Given the description of an element on the screen output the (x, y) to click on. 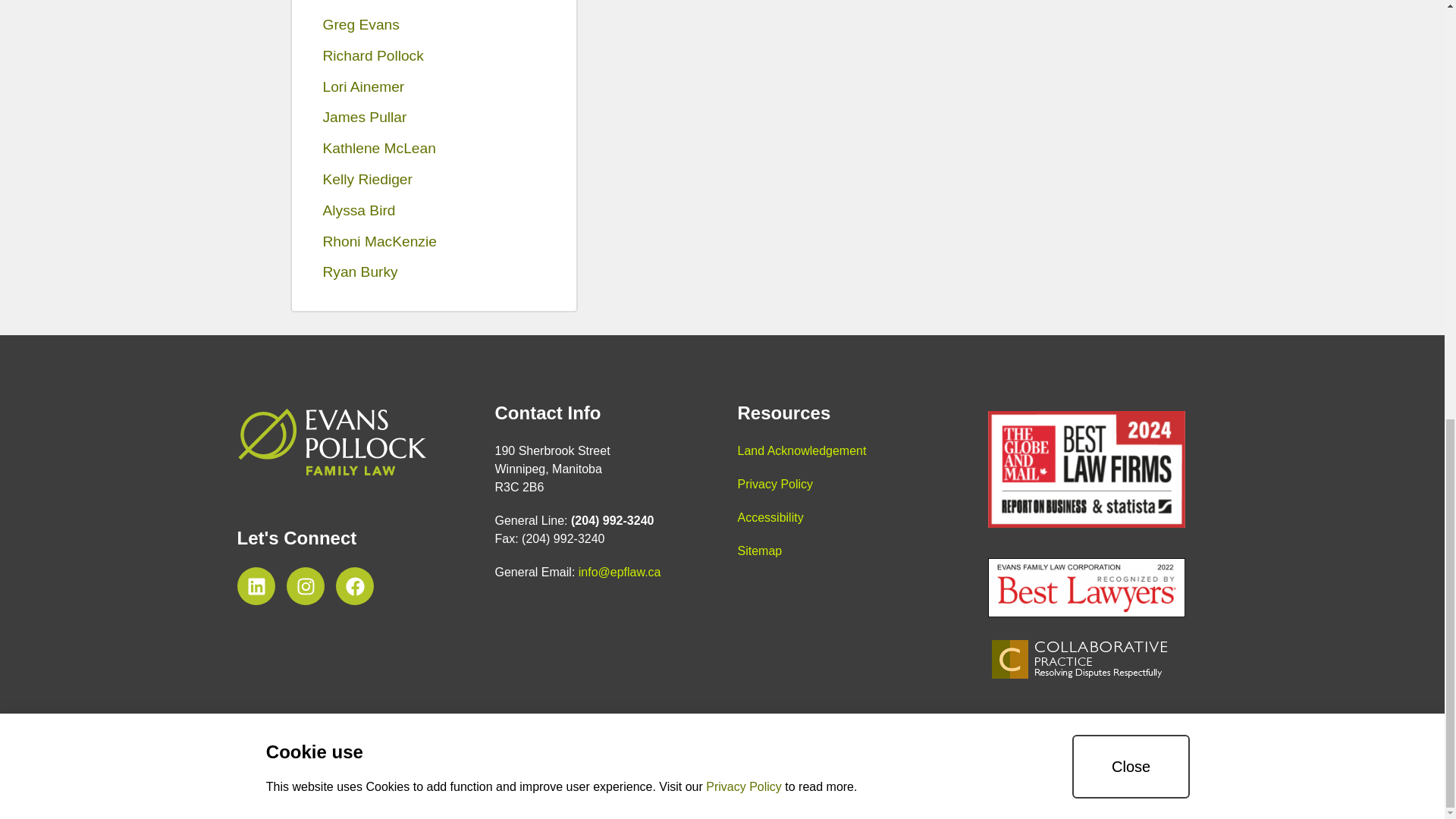
Richard Pollock (433, 56)
Greg Evans (433, 24)
Ryan Burky (433, 272)
Kelly Riediger (433, 179)
Land Acknowledgement (801, 450)
Privacy Policy (774, 483)
Rhoni MacKenzie (433, 241)
Lori Ainemer (433, 87)
James Pullar (433, 117)
Alyssa Bird (433, 210)
Kathlene McLean (433, 148)
